Given the description of an element on the screen output the (x, y) to click on. 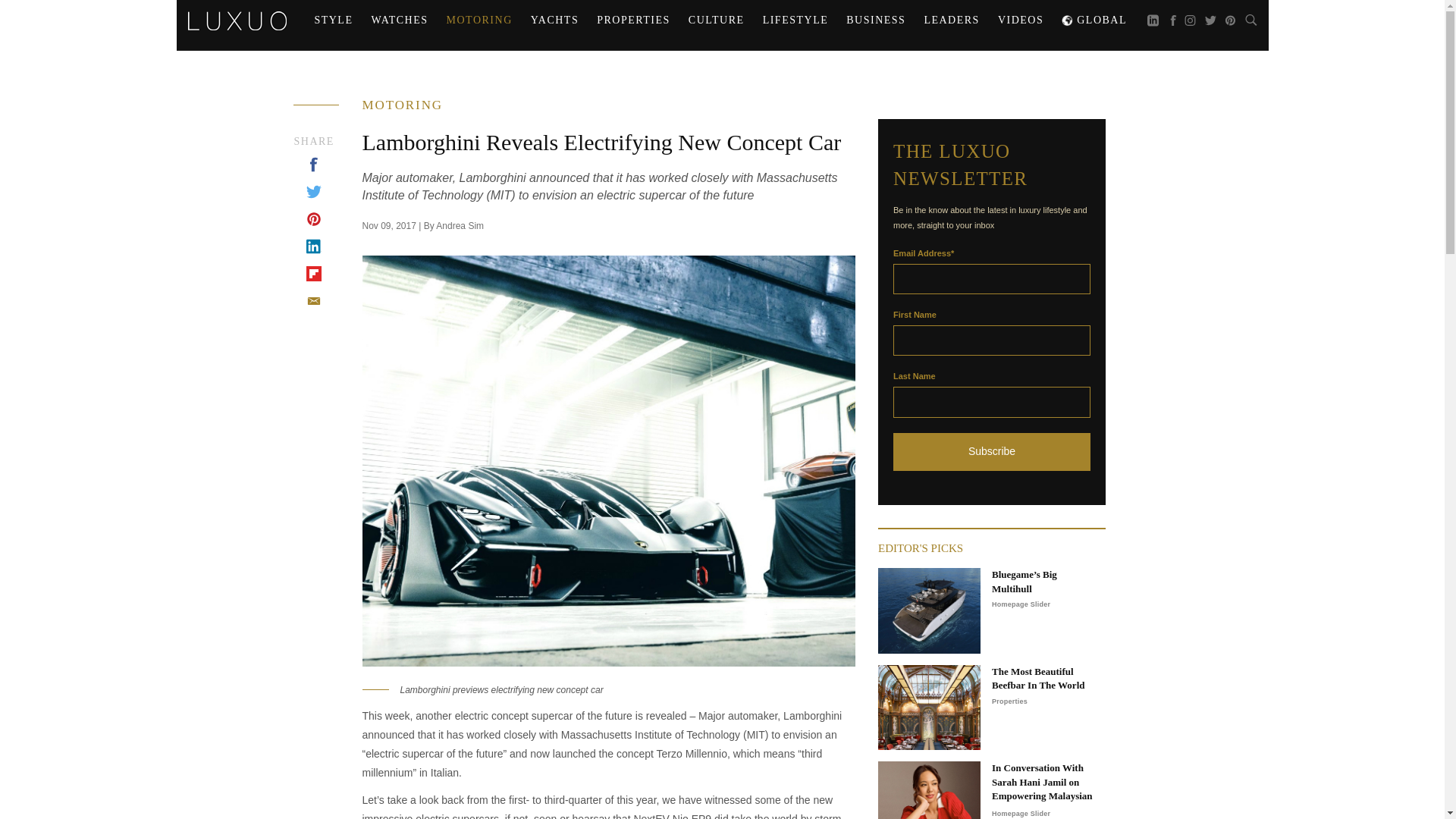
PROPERTIES (633, 20)
LUXUO - The Luxury Lifestyle Portal (236, 20)
LUXUO - The Luxury Lifestyle Portal (236, 18)
WATCHES (398, 20)
YACHTS (554, 20)
Subscribe (991, 451)
STYLE (332, 20)
MOTORING (479, 20)
